Given the description of an element on the screen output the (x, y) to click on. 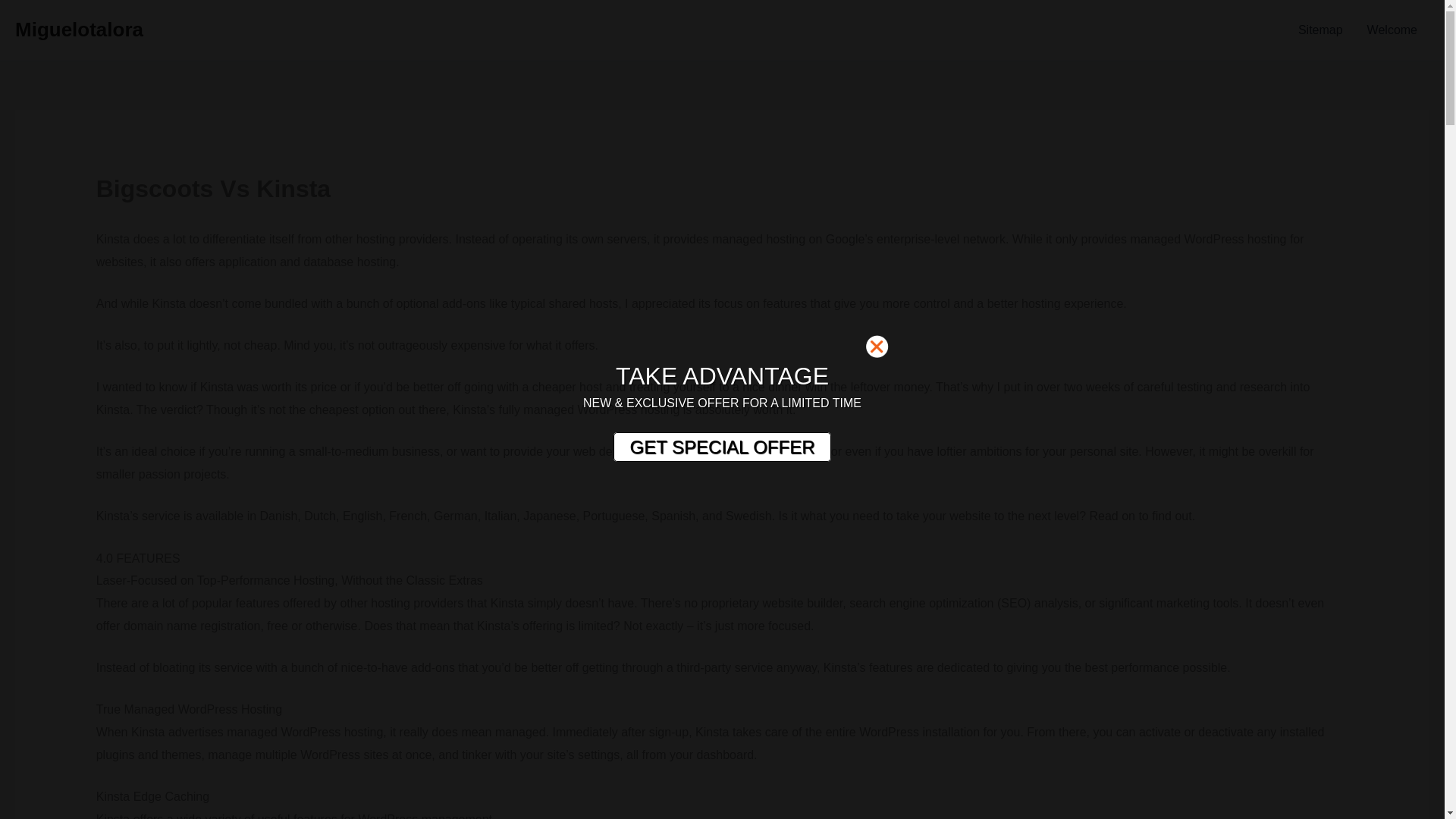
Welcome (1392, 30)
GET SPECIAL OFFER (720, 446)
Miguelotalora (78, 29)
Sitemap (1320, 30)
